Given the description of an element on the screen output the (x, y) to click on. 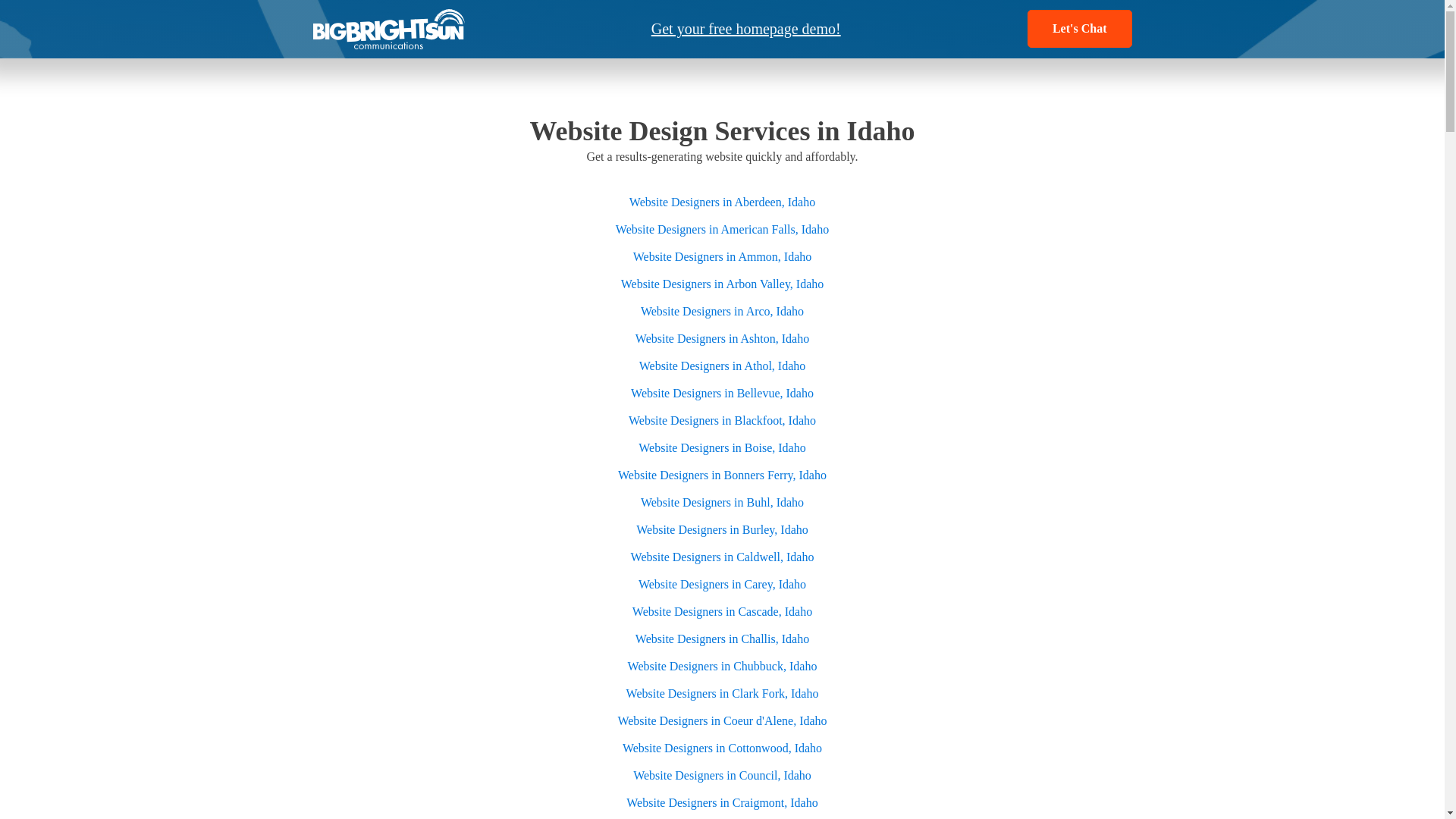
Get your free homepage demo! (745, 28)
Let's Chat (1079, 28)
Website Designers in Aberdeen, Idaho (721, 201)
Website Designers in Carey, Idaho (722, 584)
Website Designers in Cascade, Idaho (721, 611)
Website Designers in American Falls, Idaho (721, 228)
Website Designers in Clark Fork, Idaho (722, 693)
Website Designers in Caldwell, Idaho (721, 556)
Website Designers in Blackfoot, Idaho (721, 420)
Website Designers in Challis, Idaho (721, 638)
Website Designers in Buhl, Idaho (721, 502)
Website Designers in Council, Idaho (721, 775)
Website Designers in Boise, Idaho (722, 447)
Website Designers in Cottonwood, Idaho (722, 748)
Website Designers in Chubbuck, Idaho (721, 666)
